Given the description of an element on the screen output the (x, y) to click on. 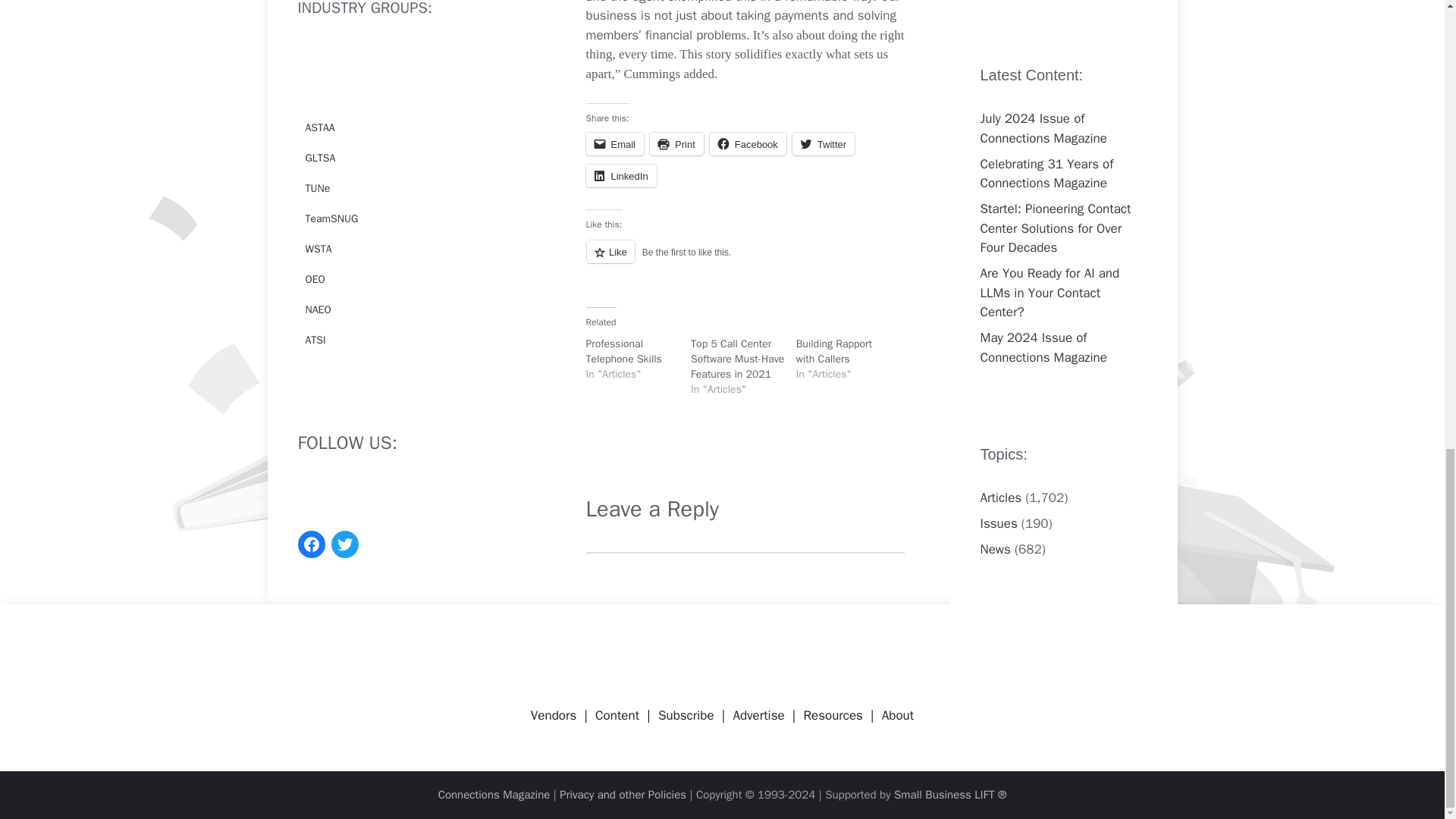
Click to share on LinkedIn (620, 175)
Click to share on Facebook (748, 143)
Scroll back to top (1406, 540)
Building Rapport with Callers (834, 351)
Click to email a link to a friend (614, 143)
Top 5 Call Center Software Must-Have Features in 2021 (737, 358)
Click to print (676, 143)
Like or Reblog (744, 260)
Professional Telephone Skills (623, 351)
Click to share on Twitter (823, 143)
